Given the description of an element on the screen output the (x, y) to click on. 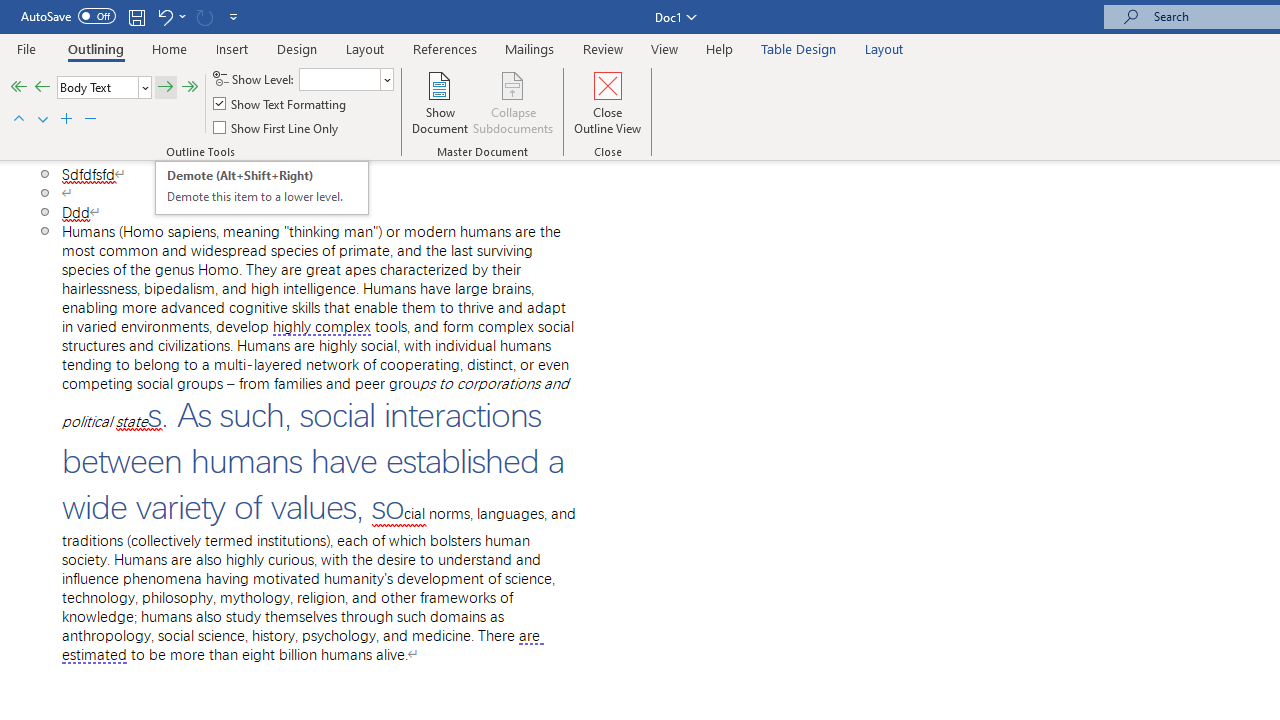
Show Document (440, 102)
Expand (67, 119)
Promote (42, 87)
Outline Level (104, 87)
Move Down (42, 119)
Close Outline View (607, 102)
